Given the description of an element on the screen output the (x, y) to click on. 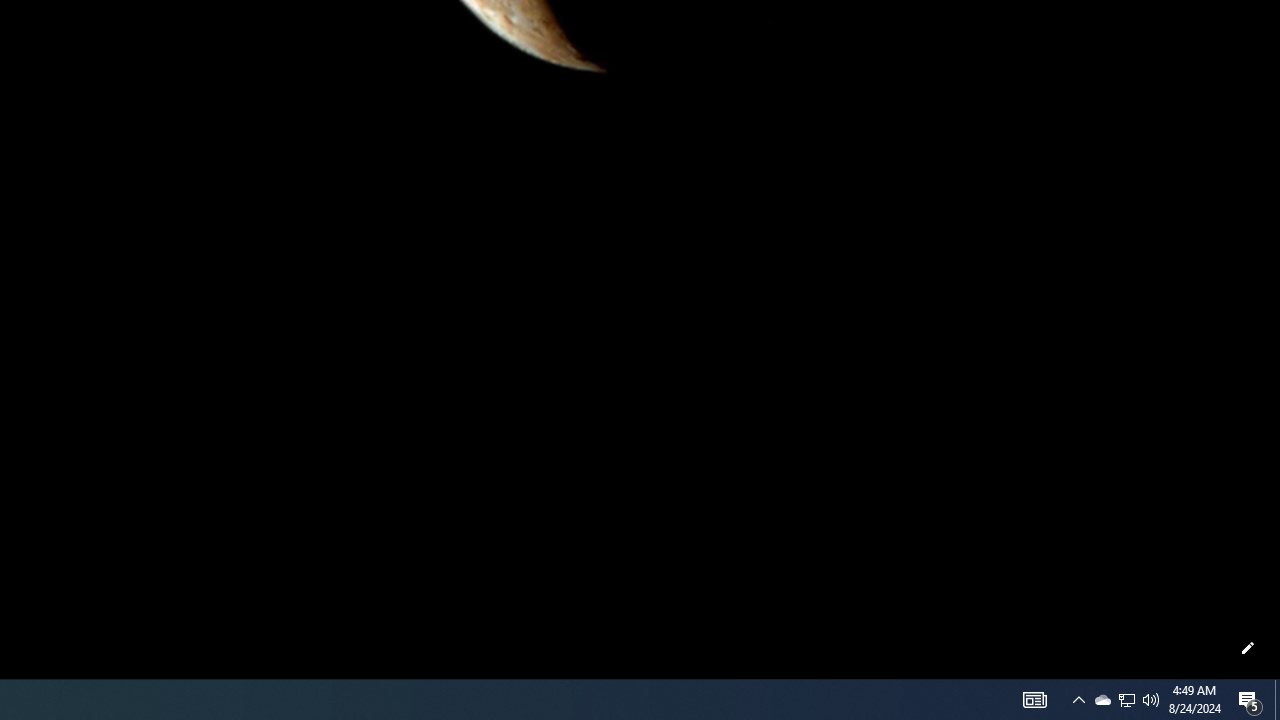
Customize this page (1247, 647)
